Given the description of an element on the screen output the (x, y) to click on. 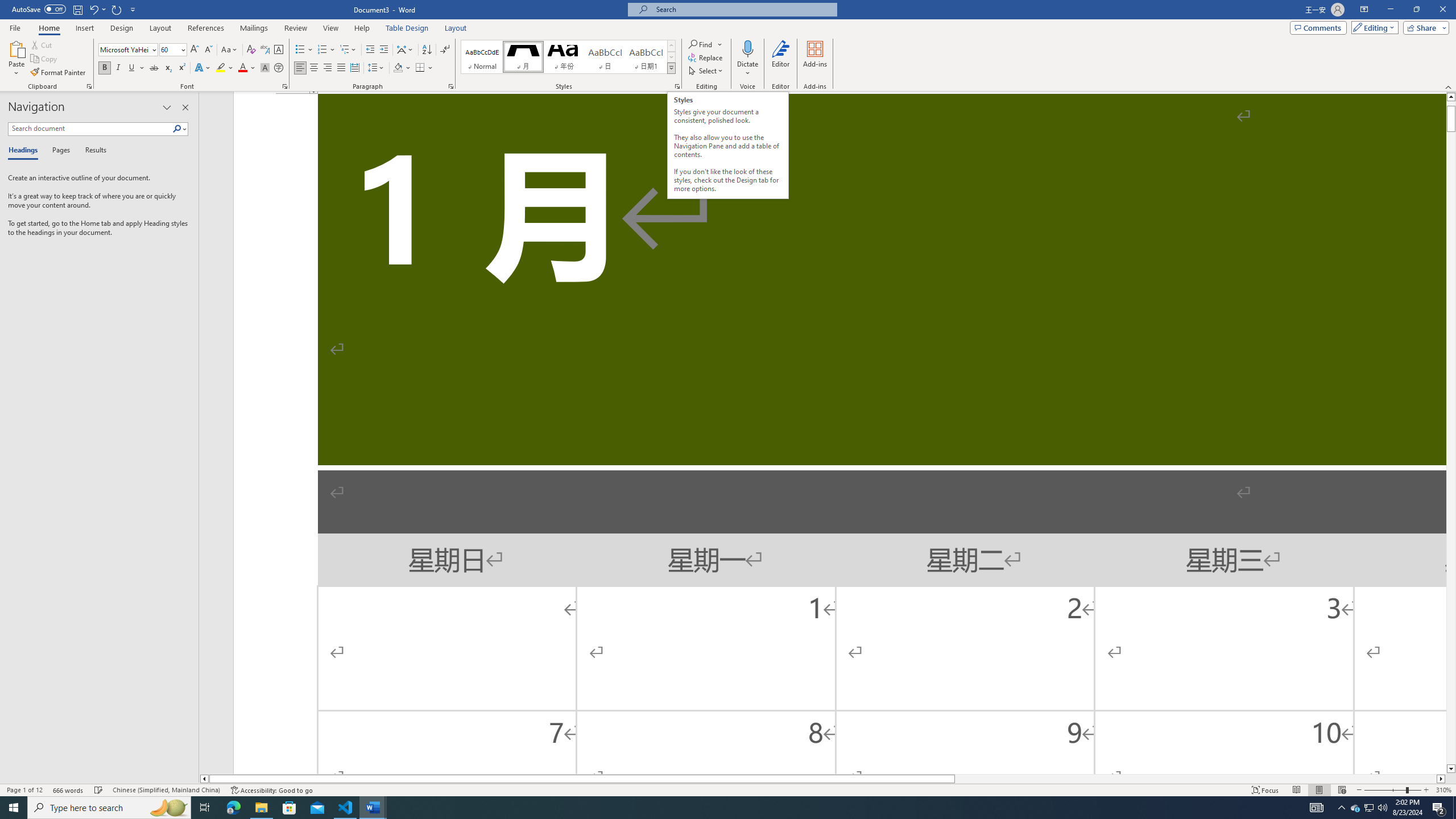
Font (128, 49)
Undo Increase Indent (96, 9)
